Given the description of an element on the screen output the (x, y) to click on. 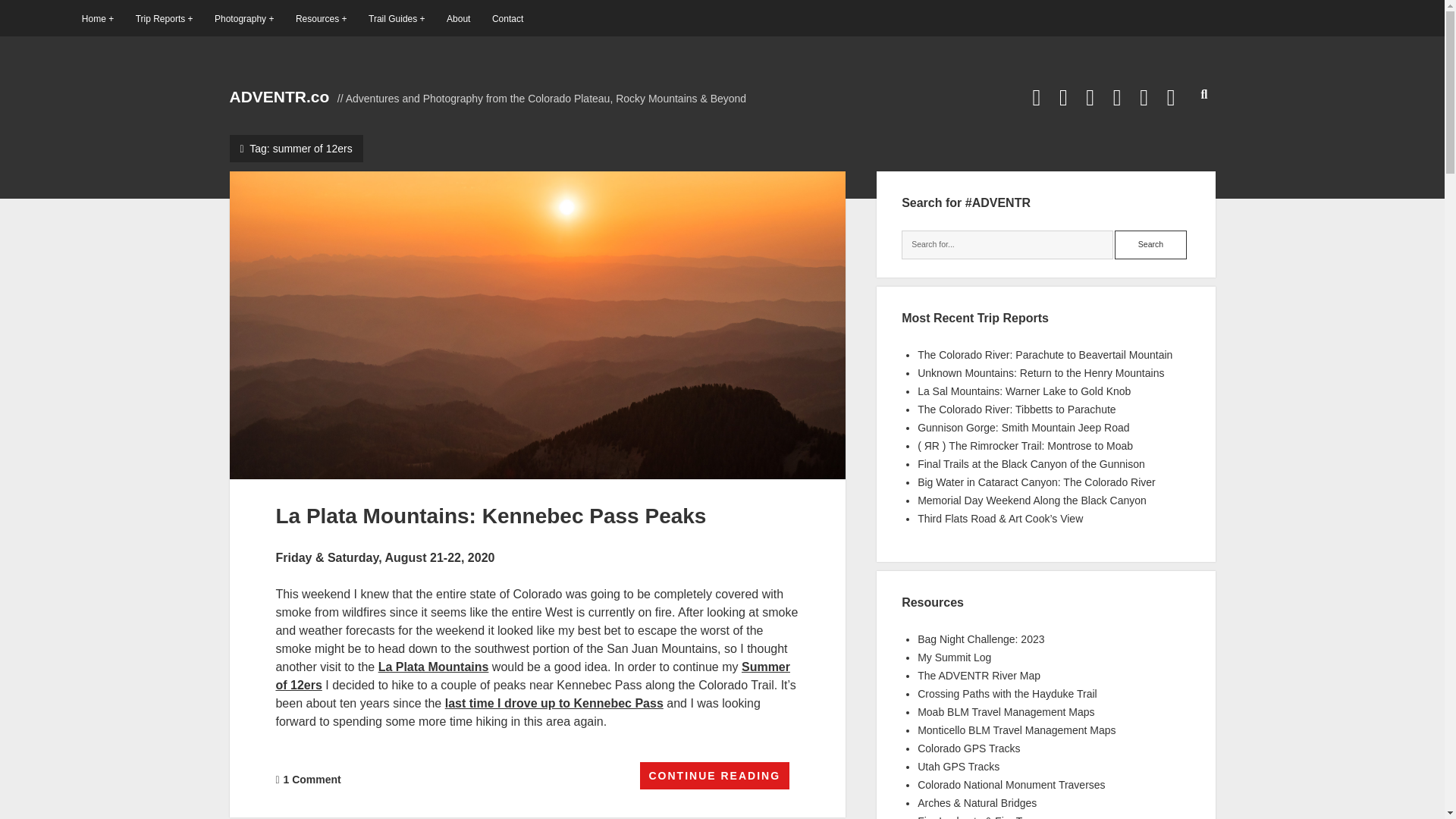
Trip Reports (164, 18)
Home (97, 18)
About ADVENTR.co (458, 18)
Photography (243, 18)
Contact (507, 18)
Search (1150, 244)
Search (1150, 244)
